Given the description of an element on the screen output the (x, y) to click on. 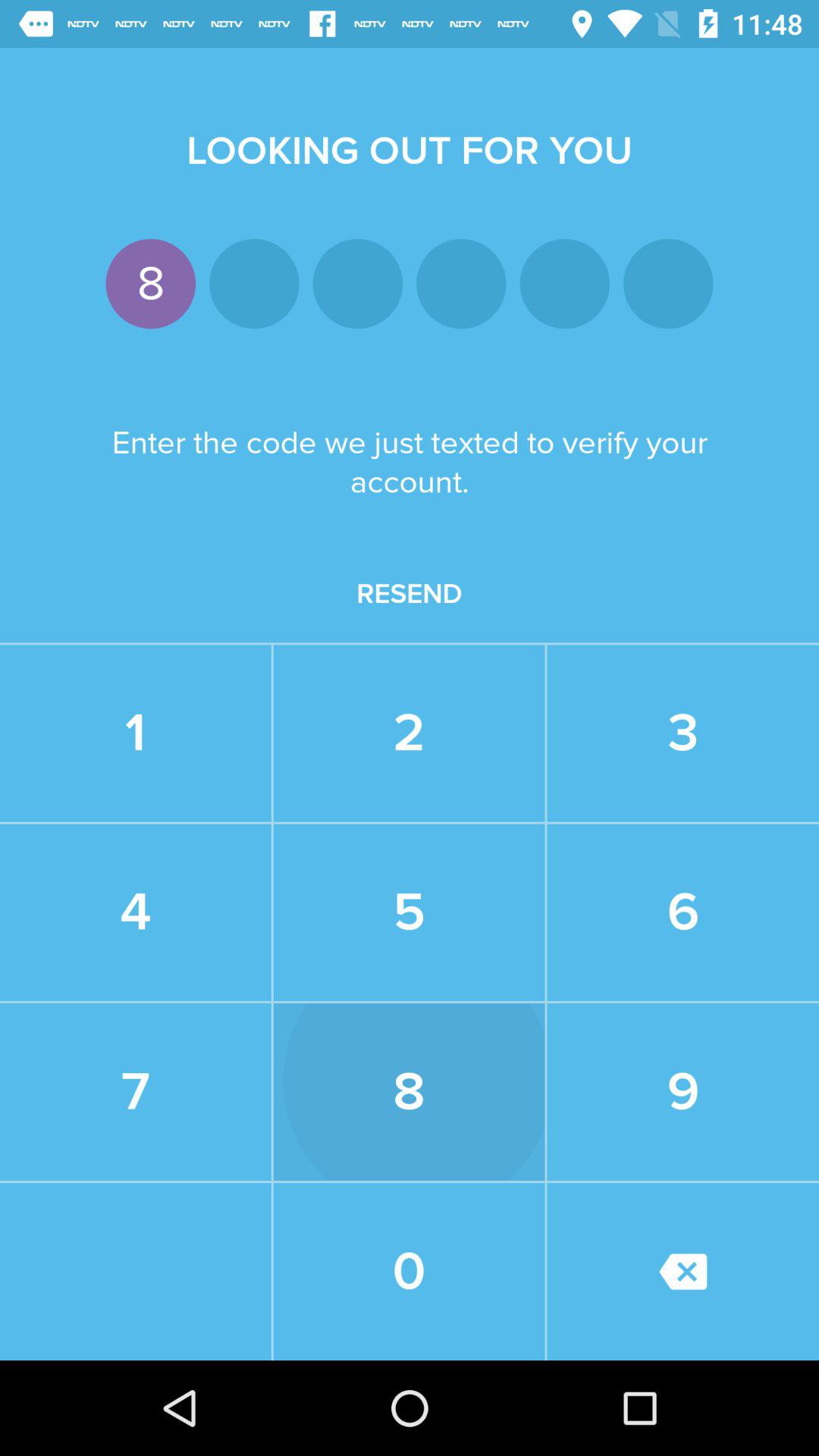
jump to the 1 item (135, 732)
